Given the description of an element on the screen output the (x, y) to click on. 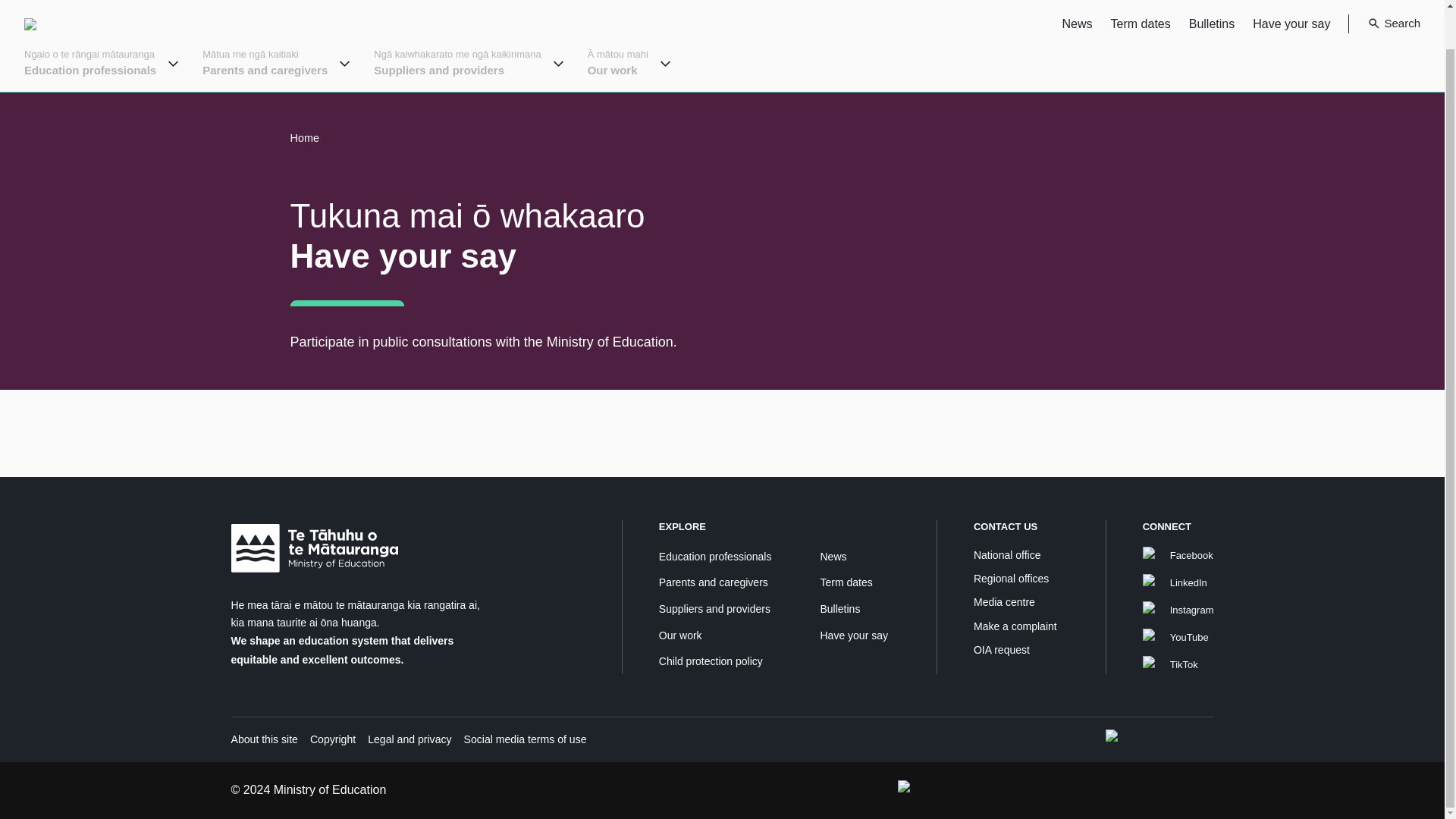
Home (303, 137)
Media centre (1004, 602)
Term dates (1140, 23)
National office (1007, 554)
Our work (680, 635)
LinkedIn (1178, 583)
Bulletins (1211, 23)
Go to search page (1384, 23)
Education professionals (715, 556)
Bulletins (839, 608)
